Given the description of an element on the screen output the (x, y) to click on. 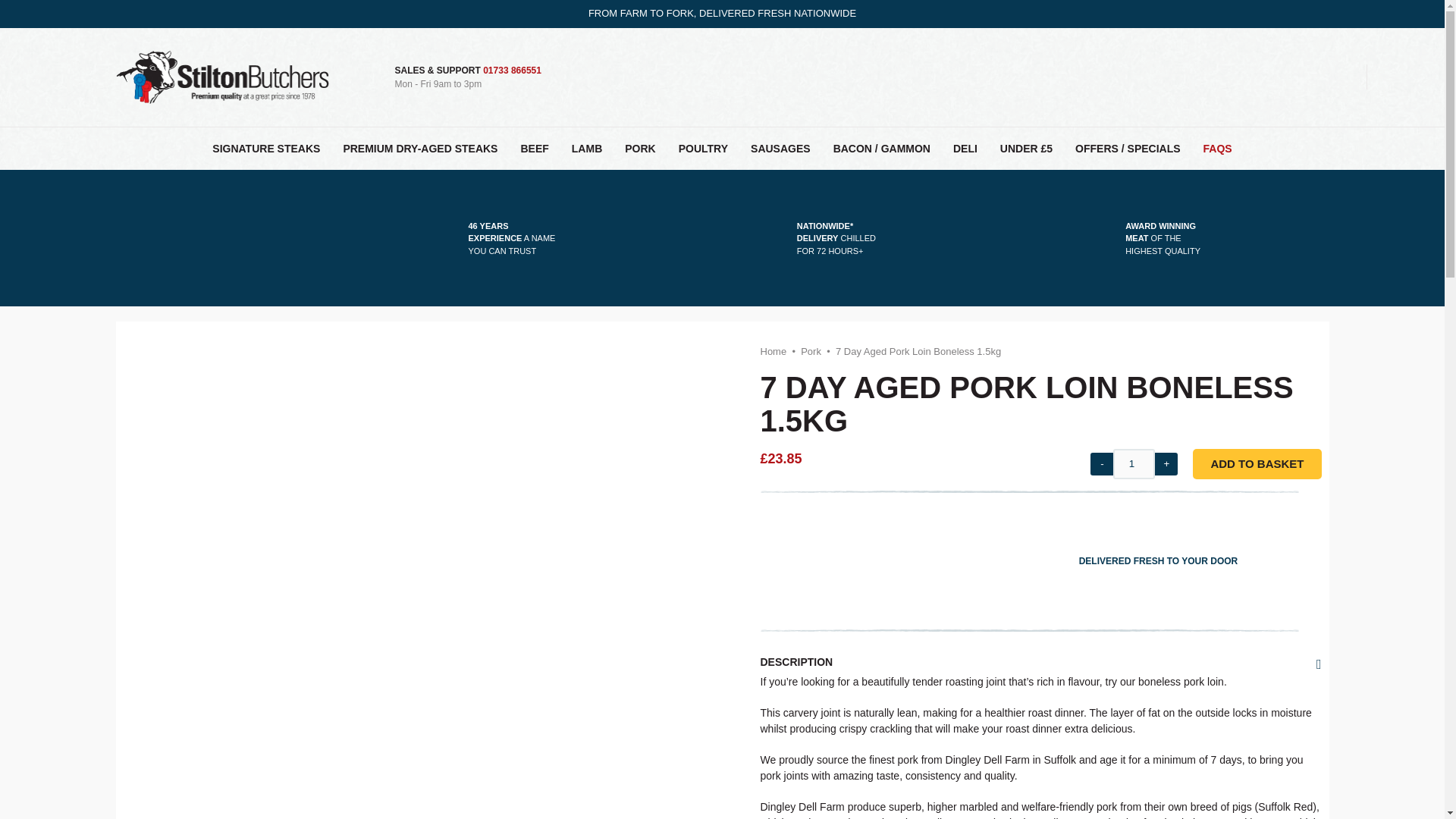
Search (1252, 76)
PREMIUM DRY-AGED STEAKS (419, 148)
Poultry (703, 148)
42 years experience. The name you can trust (512, 238)
Pork (810, 351)
Beef (533, 148)
ADD TO BASKET (1256, 463)
Search (1252, 74)
Phone Us (512, 70)
SIGNATURE STEAKS (266, 148)
BEEF (533, 148)
Home (773, 351)
01733 866551 (512, 70)
Lamb (587, 148)
FAQS (1217, 148)
